Given the description of an element on the screen output the (x, y) to click on. 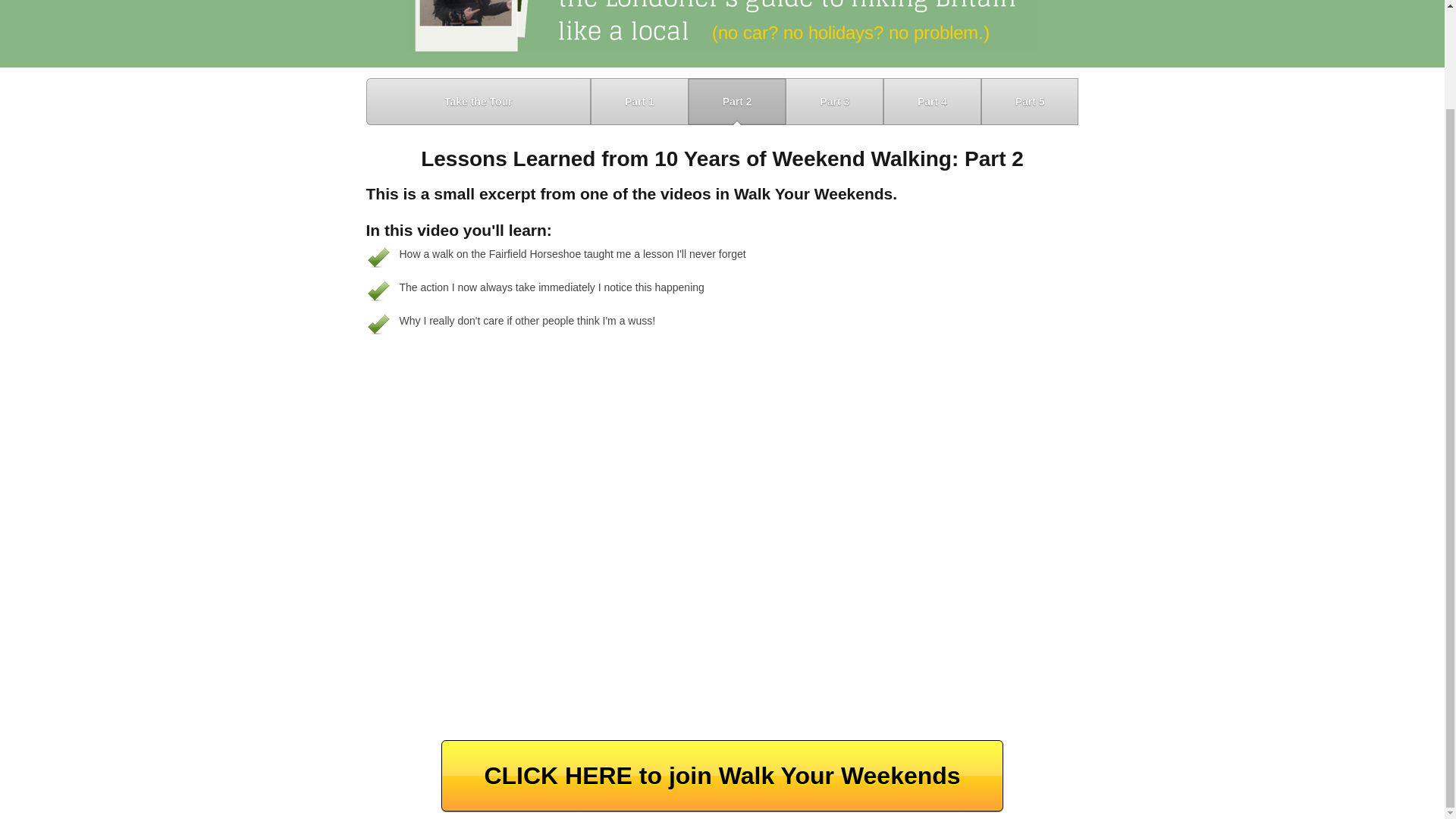
Part 5 (1029, 101)
Part 1 (639, 101)
Part 3 (834, 101)
CLICK HERE to join Walk Your Weekends (722, 775)
Part 2 (737, 101)
Take the Tour (478, 101)
Part 4 (932, 101)
